Given the description of an element on the screen output the (x, y) to click on. 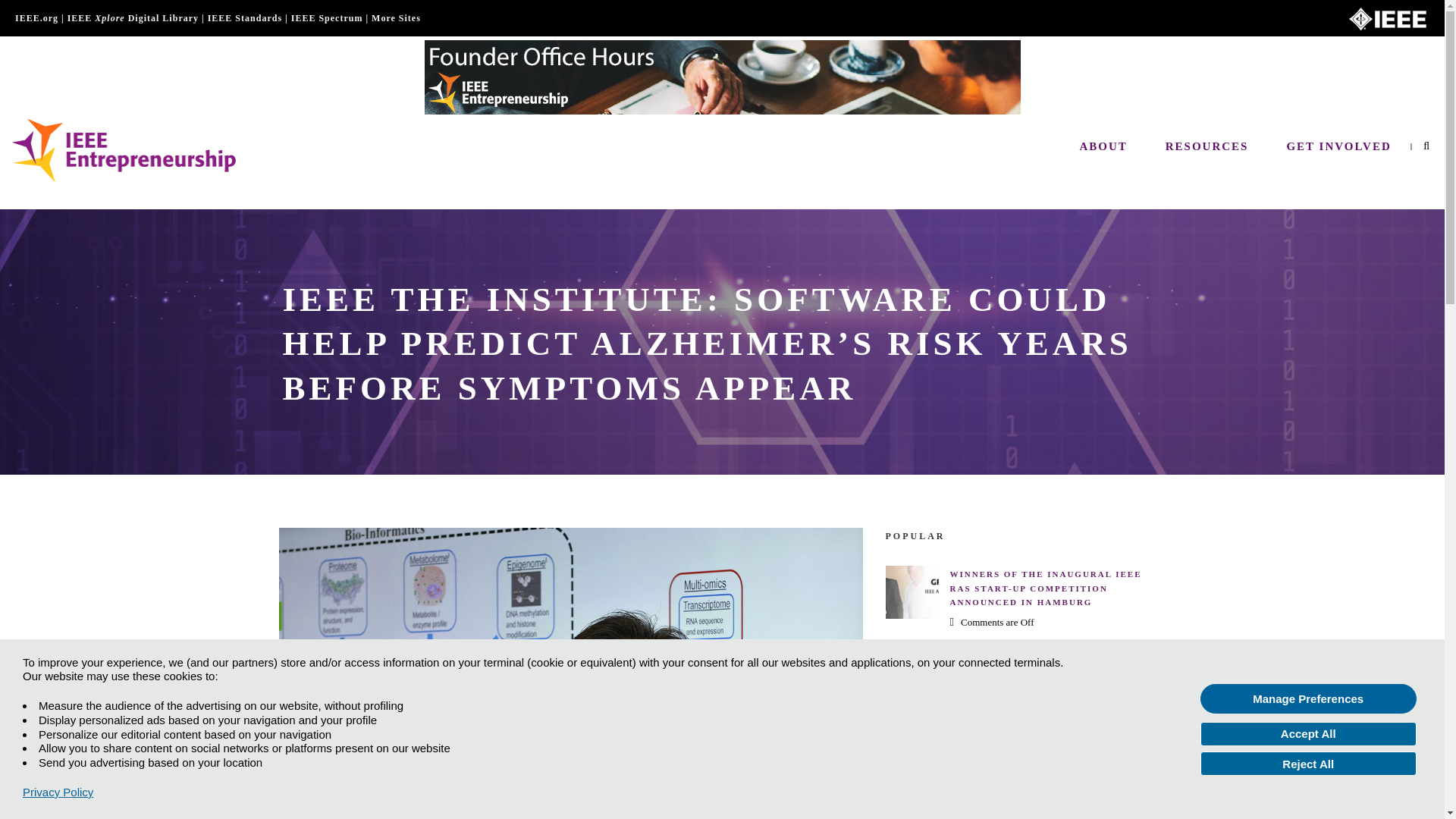
IEEE Standards Association (245, 18)
IEEE Xplore (132, 18)
IEEE Xplore Digital Library (132, 18)
Manage Preferences (1307, 698)
IEEE Spectrum (326, 18)
Privacy Policy (58, 792)
More IEEE sites (395, 18)
ABOUT (1102, 147)
IEEE.org (36, 18)
Accept All (1307, 733)
Reject All (1307, 763)
IEEE.org (36, 18)
IEEE Standards (245, 18)
IEEE Spectrum (326, 18)
More Sites (395, 18)
